Given the description of an element on the screen output the (x, y) to click on. 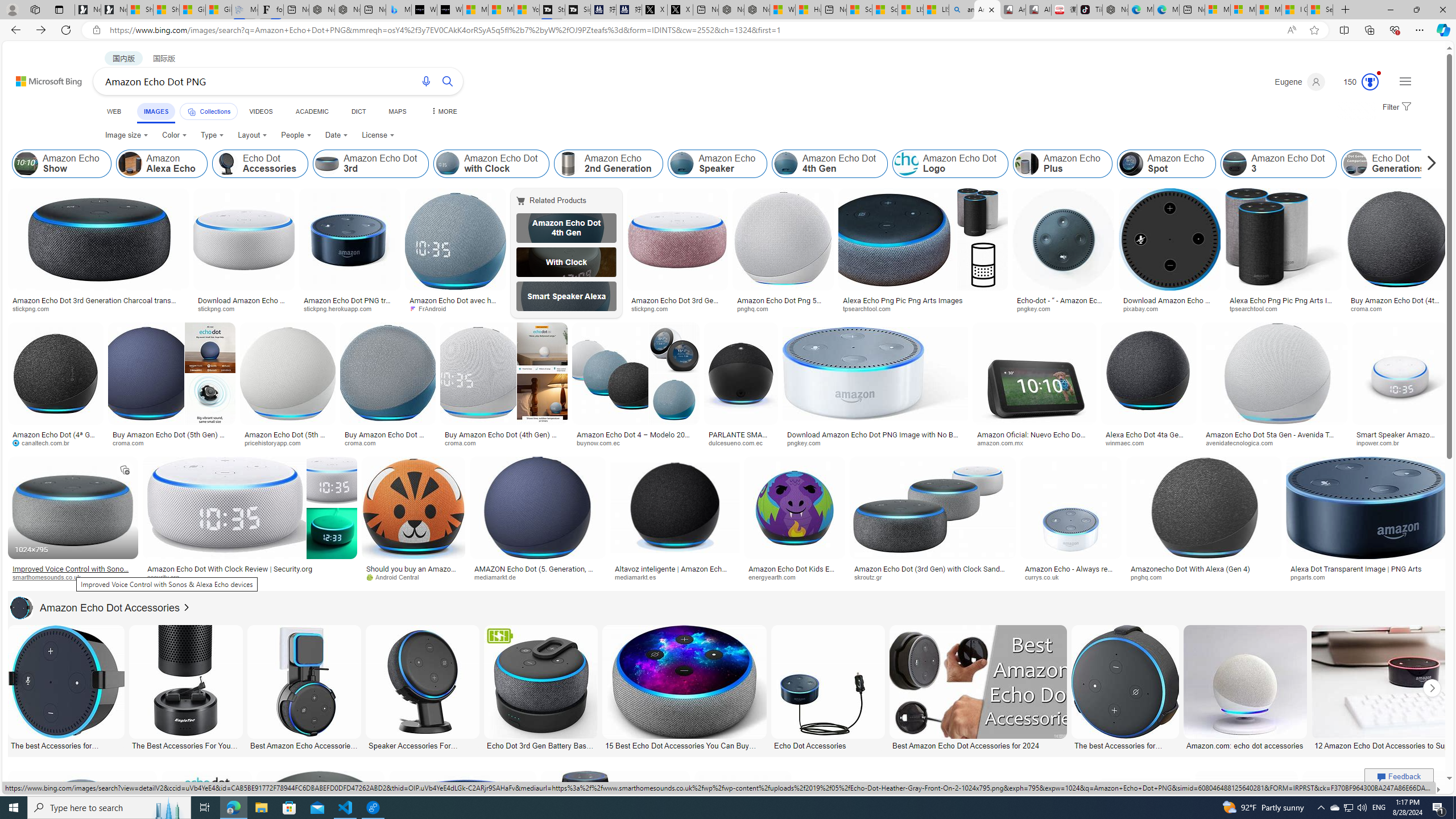
avenidatecnologica.com (1273, 442)
Echo Dot Accessories Echo Dot Accessories (828, 687)
IMAGES (156, 111)
Nordace - #1 Japanese Best-Seller - Siena Smart Backpack (347, 9)
Back to Bing search (41, 78)
pngarts.com (1311, 576)
